Given the description of an element on the screen output the (x, y) to click on. 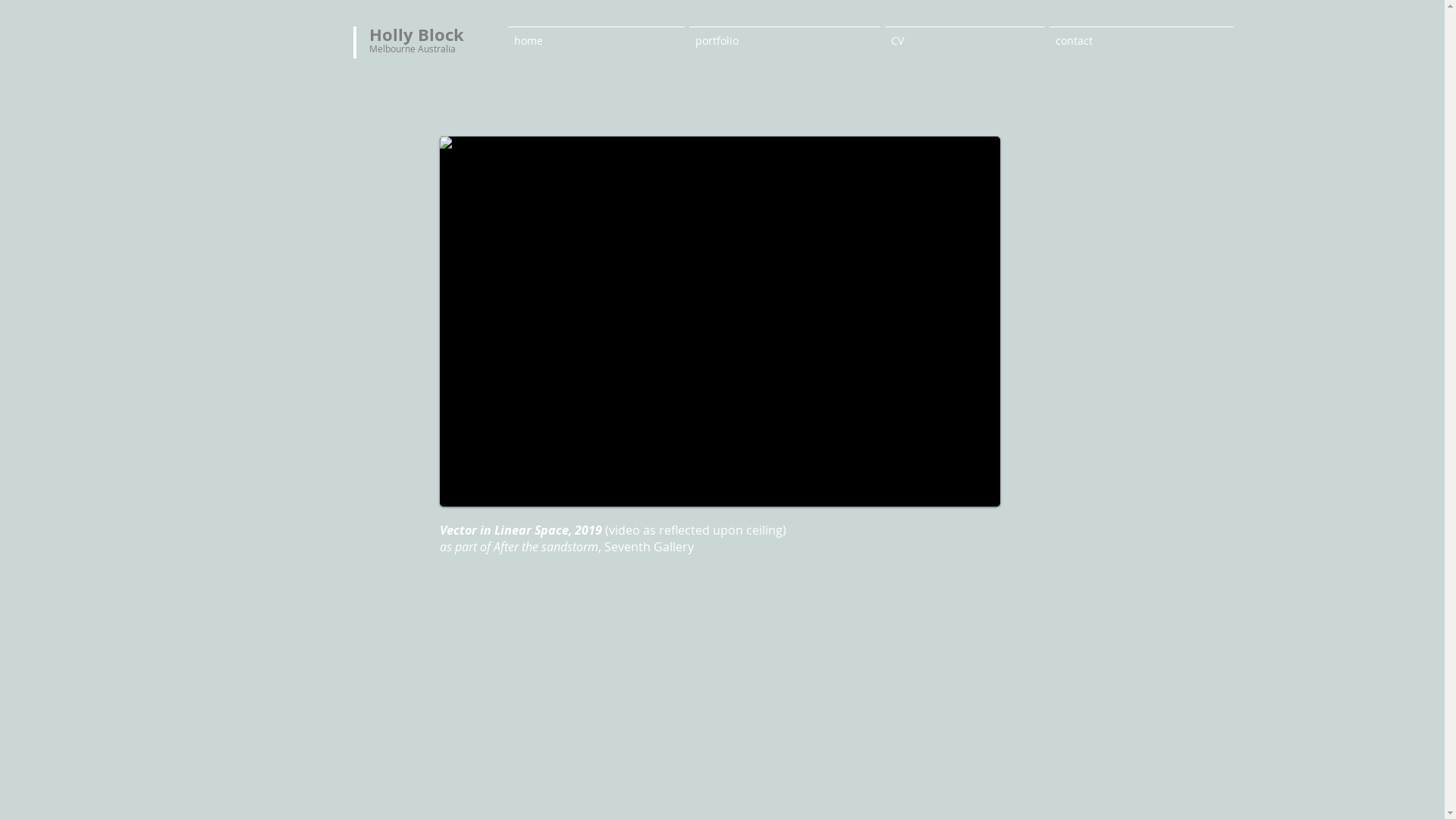
home Element type: text (595, 33)
portfolio Element type: text (784, 33)
CV Element type: text (964, 33)
contact Element type: text (1140, 33)
